Given the description of an element on the screen output the (x, y) to click on. 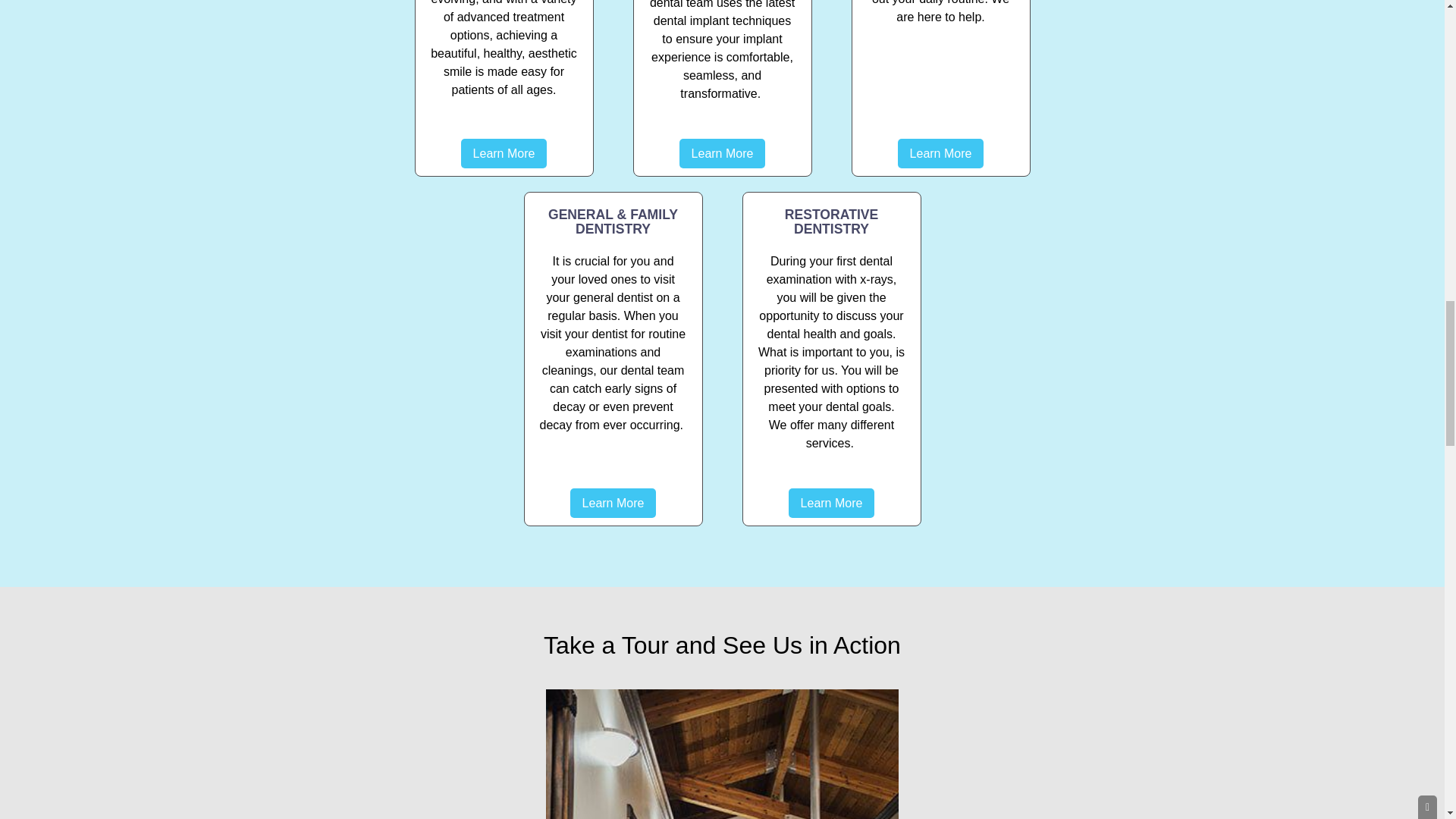
Learn More (504, 153)
Learn More (941, 153)
Learn More (613, 502)
Learn More (832, 502)
Learn More (722, 153)
